Given the description of an element on the screen output the (x, y) to click on. 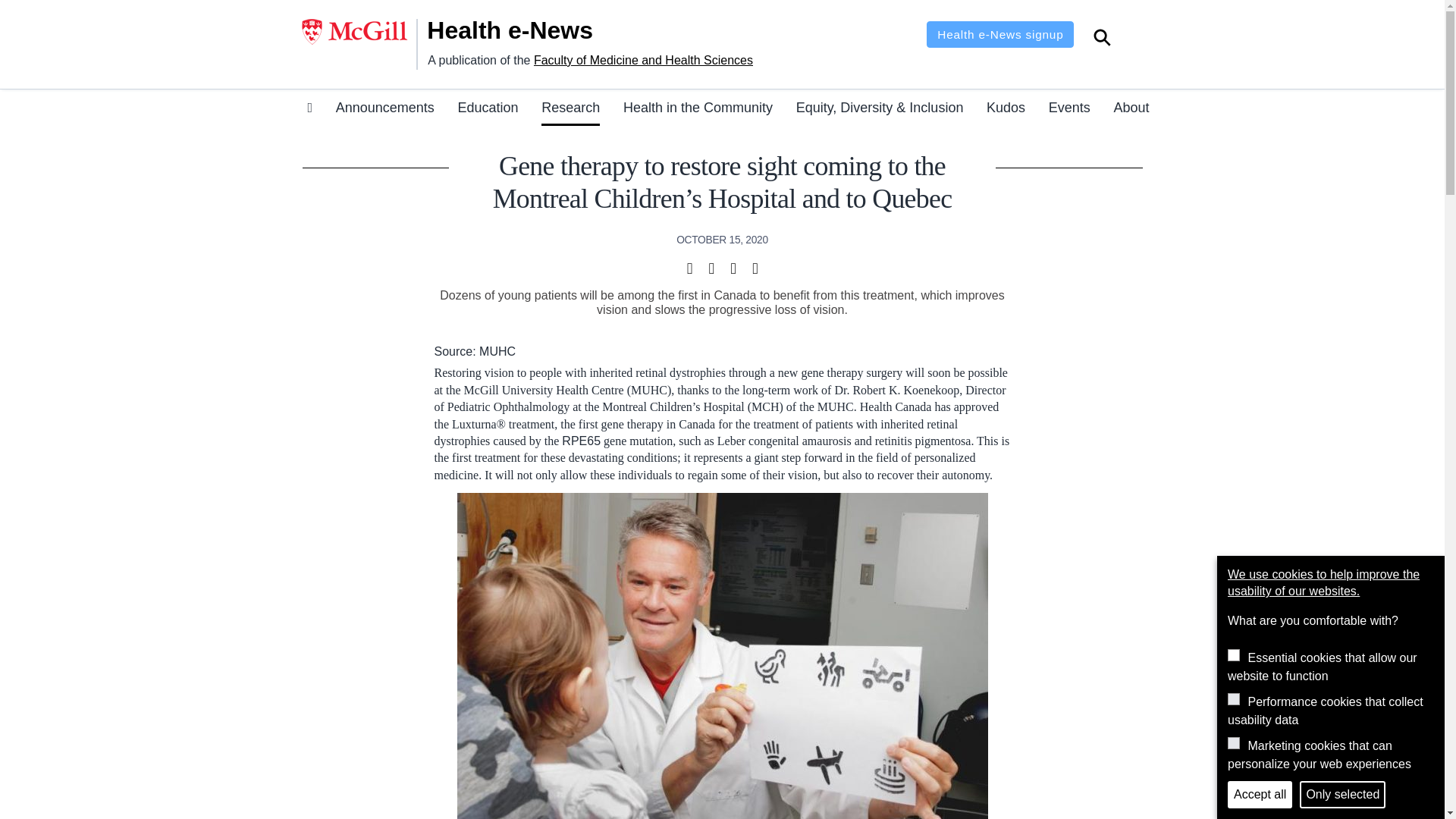
Search (1102, 40)
marketing (1233, 743)
Health e-News (529, 30)
Home (529, 30)
Health e-News signup (1000, 34)
Education (487, 110)
Kudos (1006, 110)
performance (1233, 698)
Events (1069, 110)
Search (1102, 40)
